Given the description of an element on the screen output the (x, y) to click on. 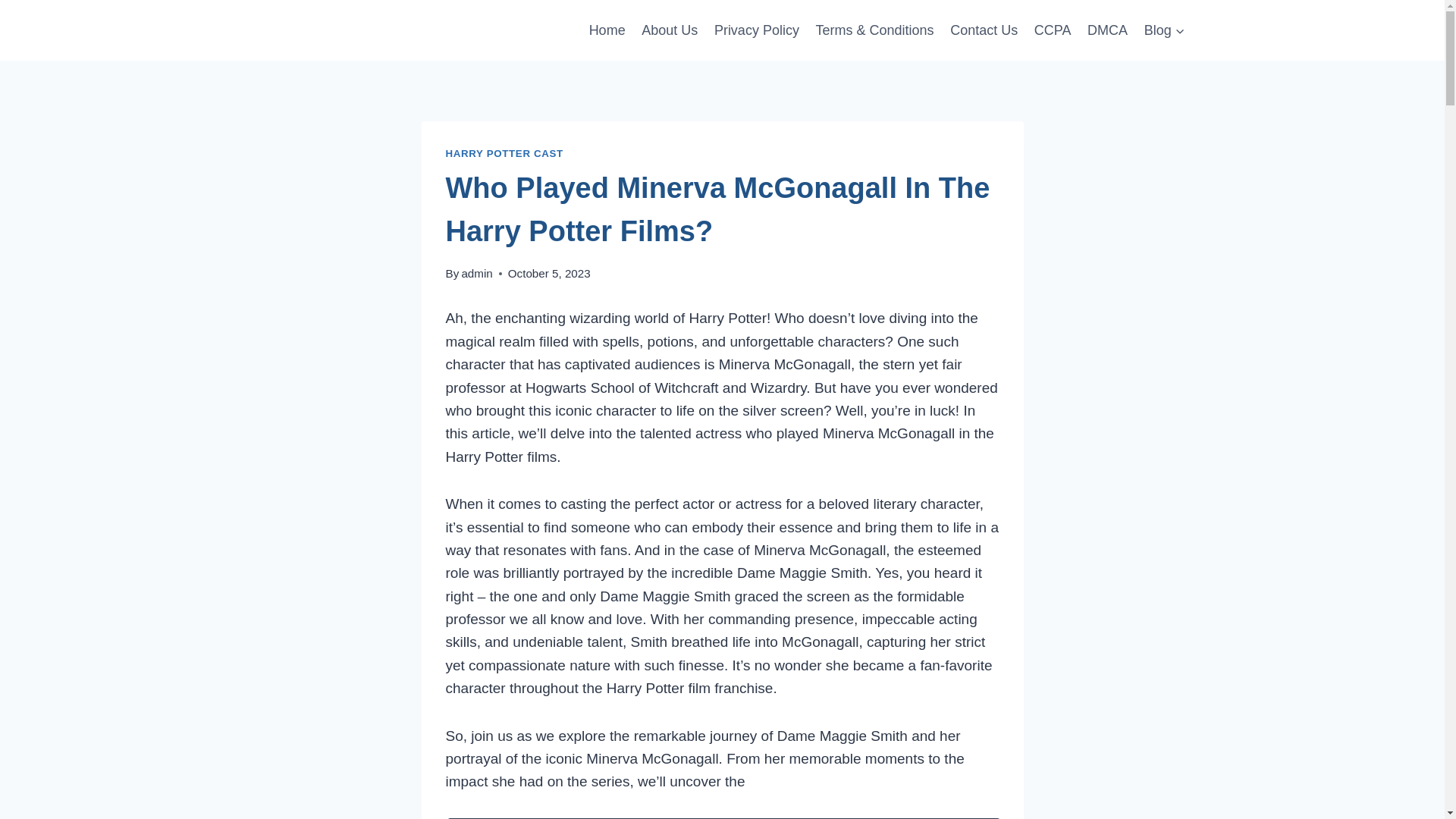
HARRY POTTER CAST (504, 153)
admin (476, 273)
Privacy Policy (757, 30)
About Us (669, 30)
Home (606, 30)
Blog (1164, 30)
CCPA (1052, 30)
DMCA (1106, 30)
Contact Us (984, 30)
